Given the description of an element on the screen output the (x, y) to click on. 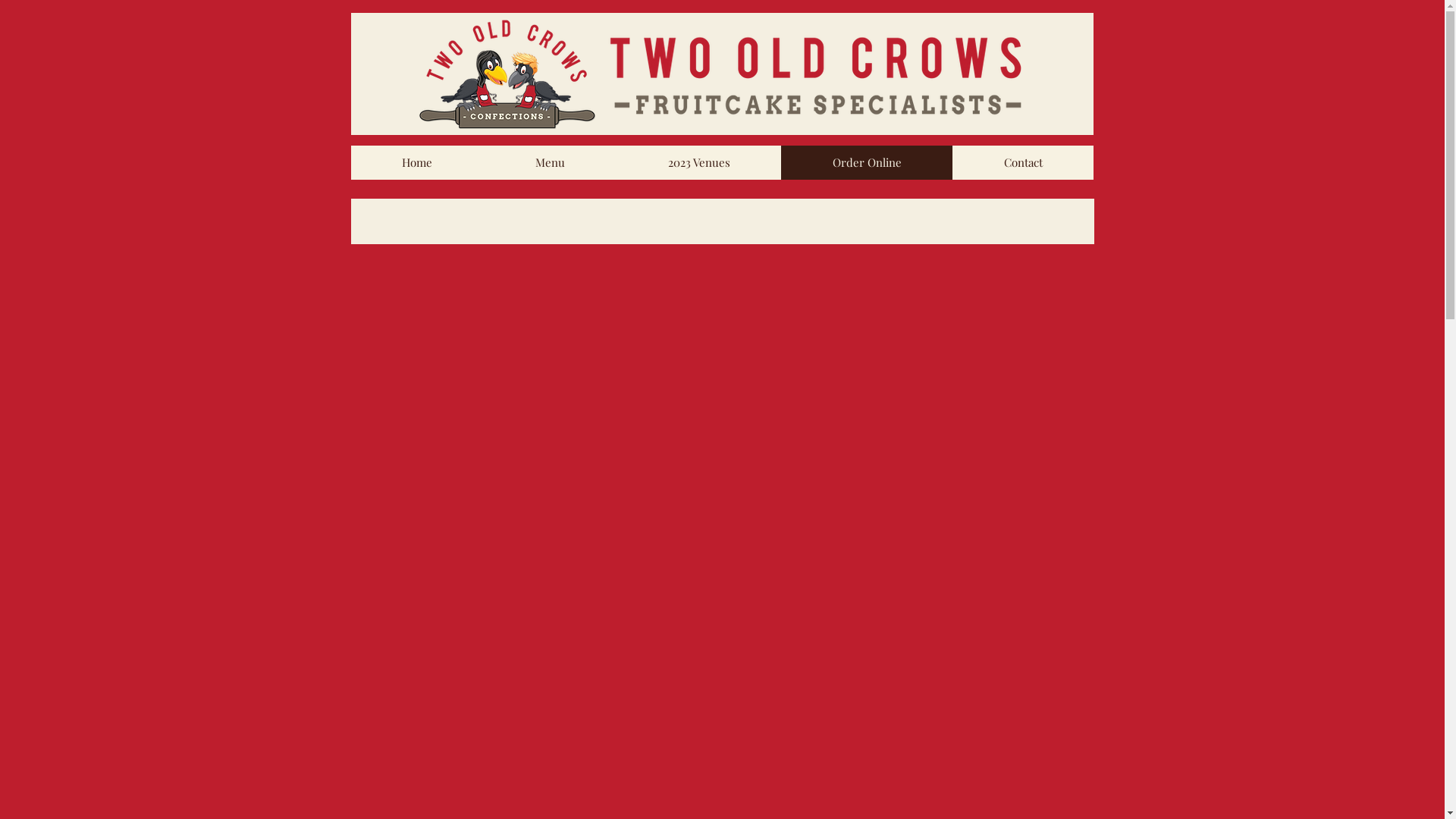
Menu Element type: text (549, 162)
Order Online Element type: text (866, 162)
2023 Venues Element type: text (697, 162)
Contact Element type: text (1022, 162)
Home Element type: text (416, 162)
